Given the description of an element on the screen output the (x, y) to click on. 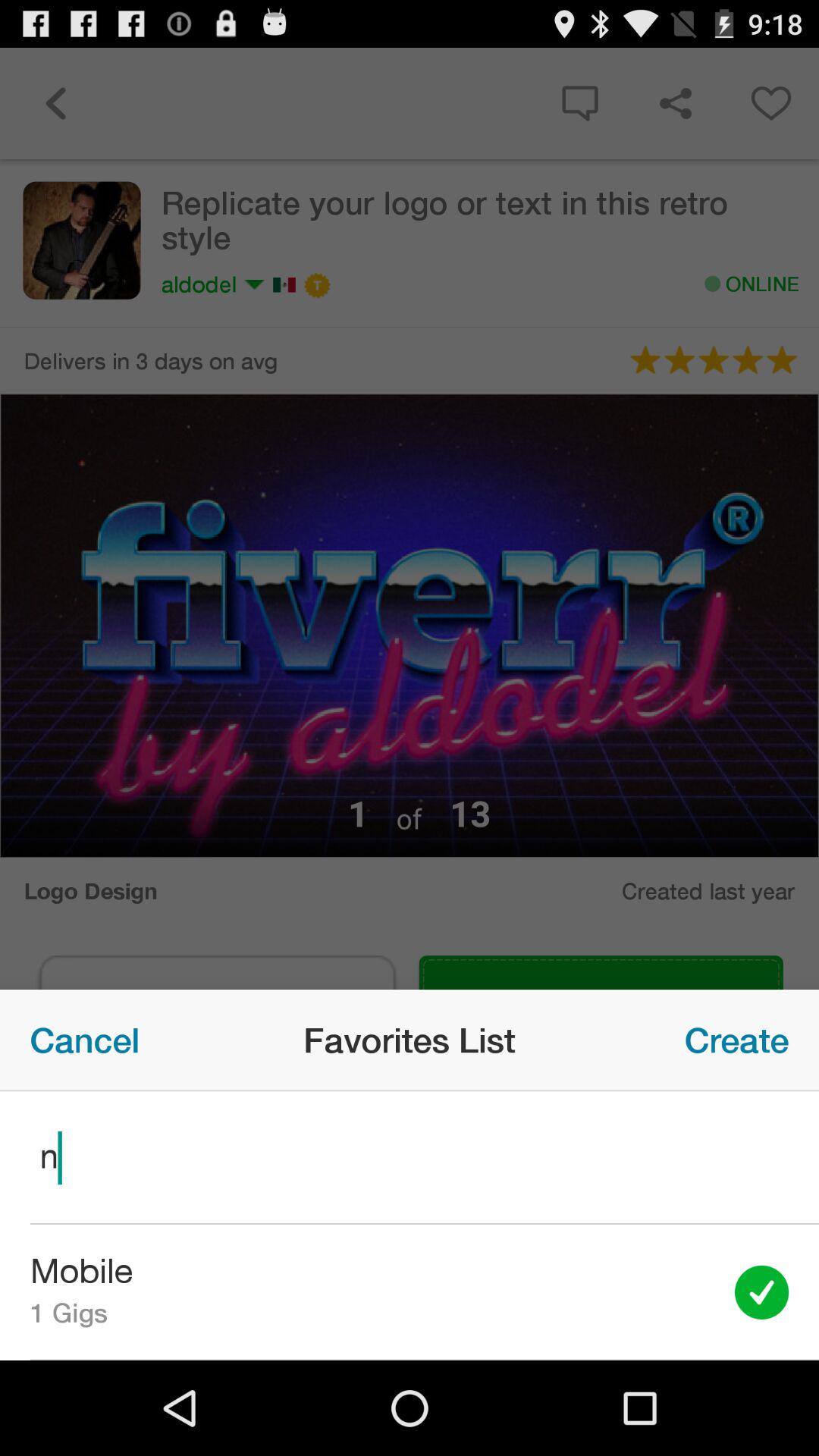
select the n icon (409, 1157)
